Given the description of an element on the screen output the (x, y) to click on. 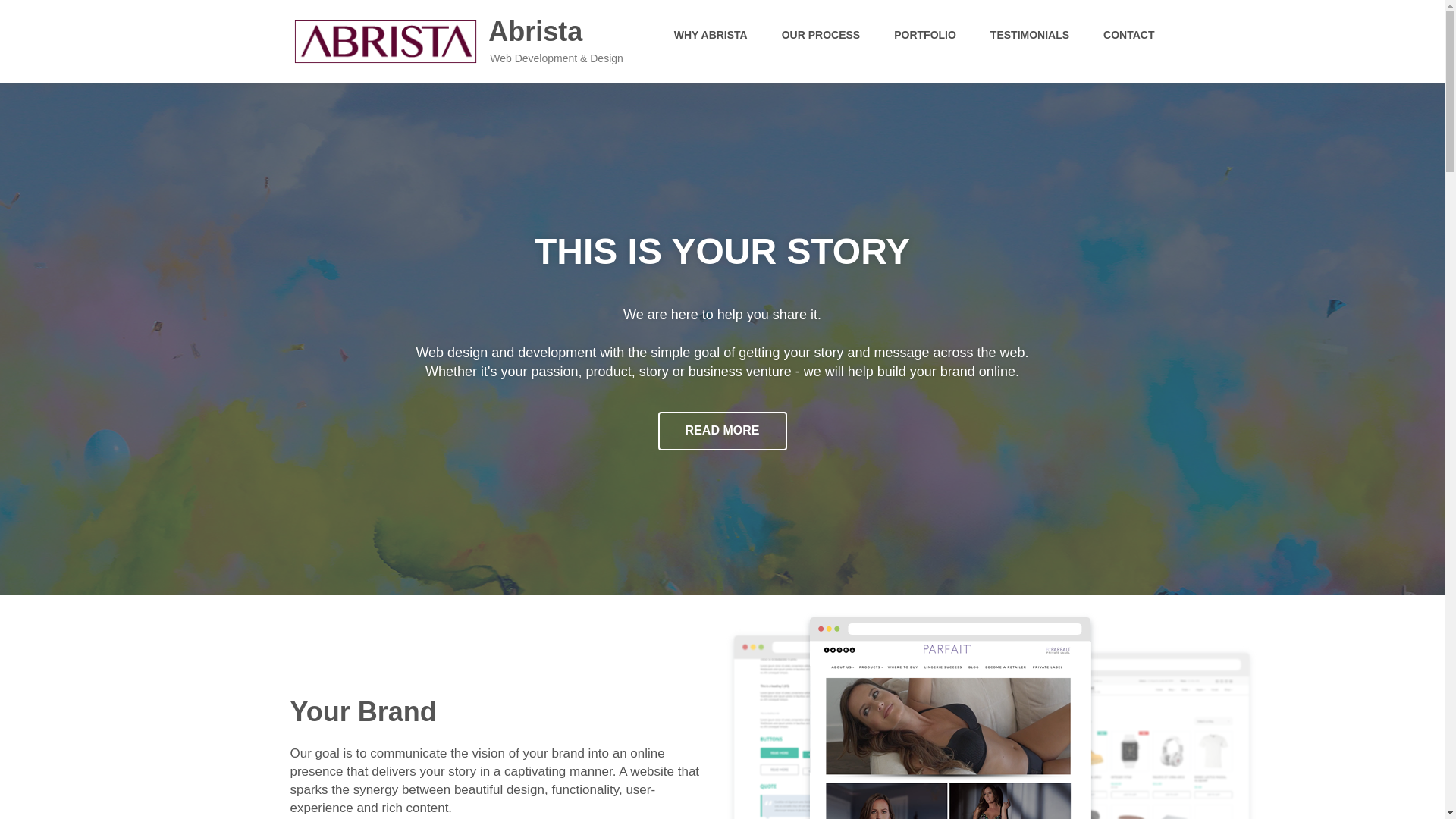
OUR PROCESS (820, 35)
Read more (722, 430)
READ MORE (722, 430)
Abrista (456, 40)
TESTIMONIALS (1029, 35)
WHY ABRISTA (711, 35)
PORTFOLIO (924, 35)
CONTACT (1128, 35)
